Given the description of an element on the screen output the (x, y) to click on. 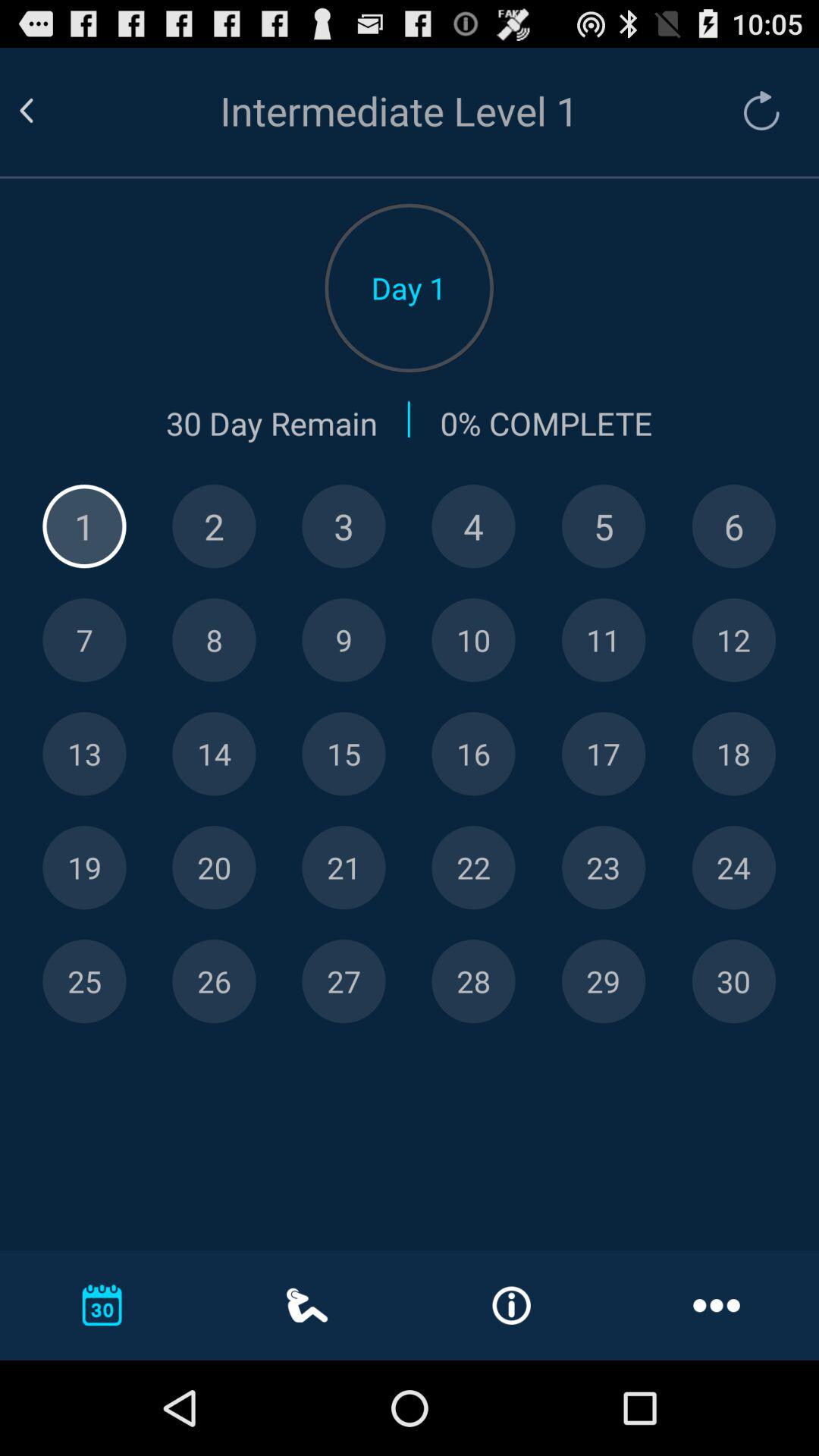
number 6 (733, 526)
